Given the description of an element on the screen output the (x, y) to click on. 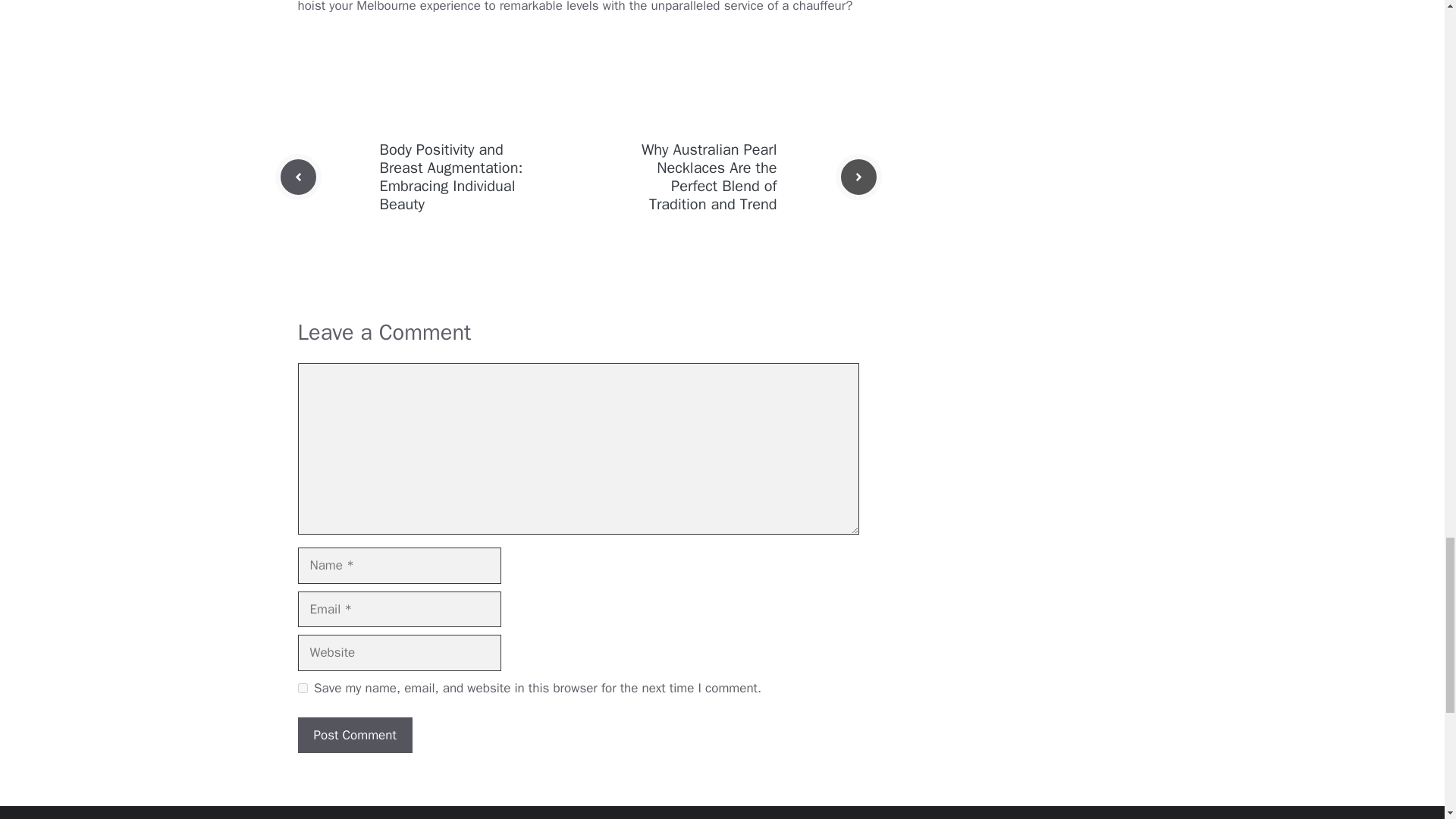
yes (302, 687)
Post Comment (354, 735)
Post Comment (354, 735)
